Given the description of an element on the screen output the (x, y) to click on. 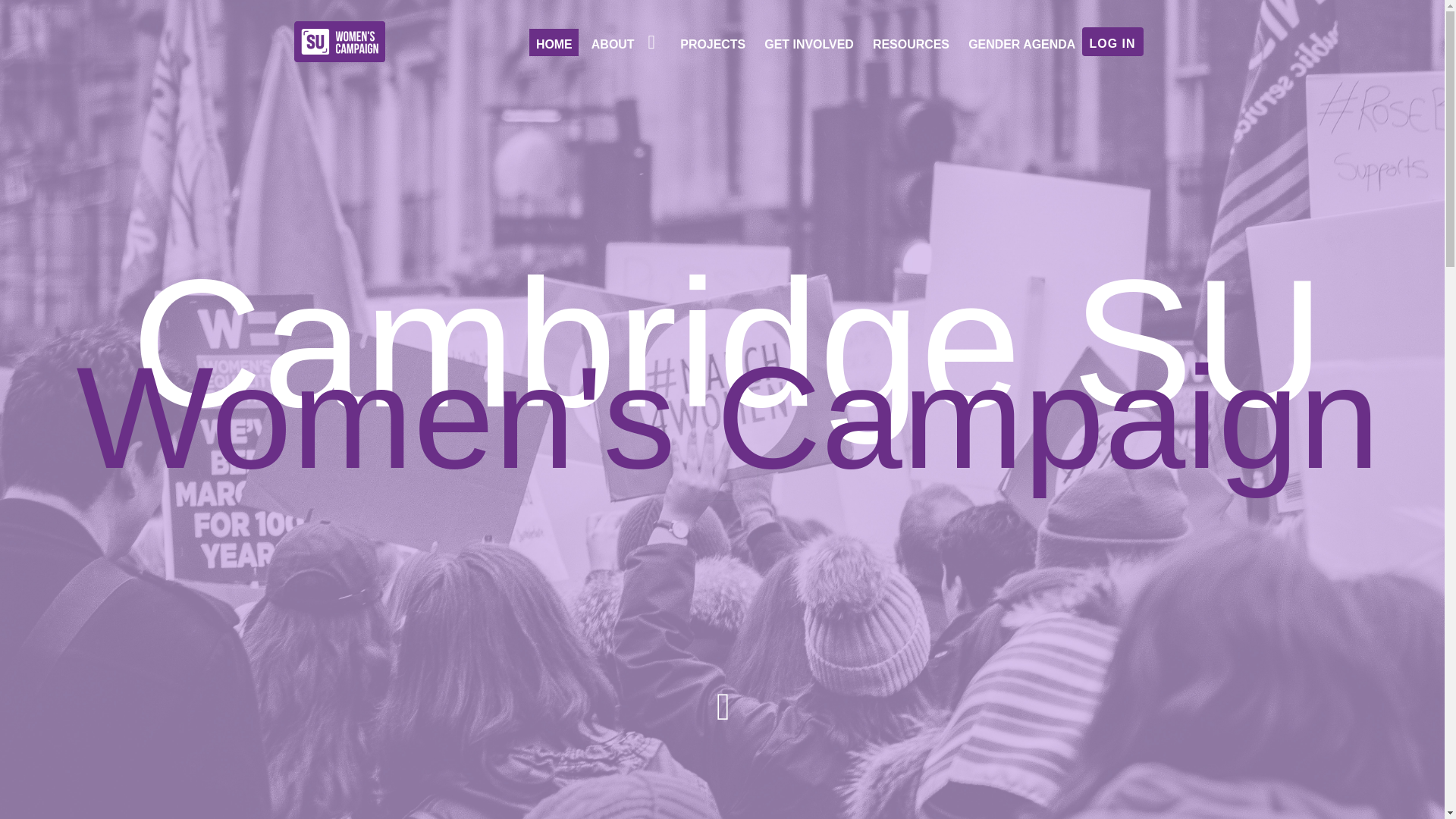
ABOUT (625, 42)
PROJECTS (713, 42)
LOG IN (1111, 41)
GET INVOLVED (809, 42)
HOME (553, 42)
GENDER AGENDA (1021, 42)
RESOURCES (911, 42)
